Given the description of an element on the screen output the (x, y) to click on. 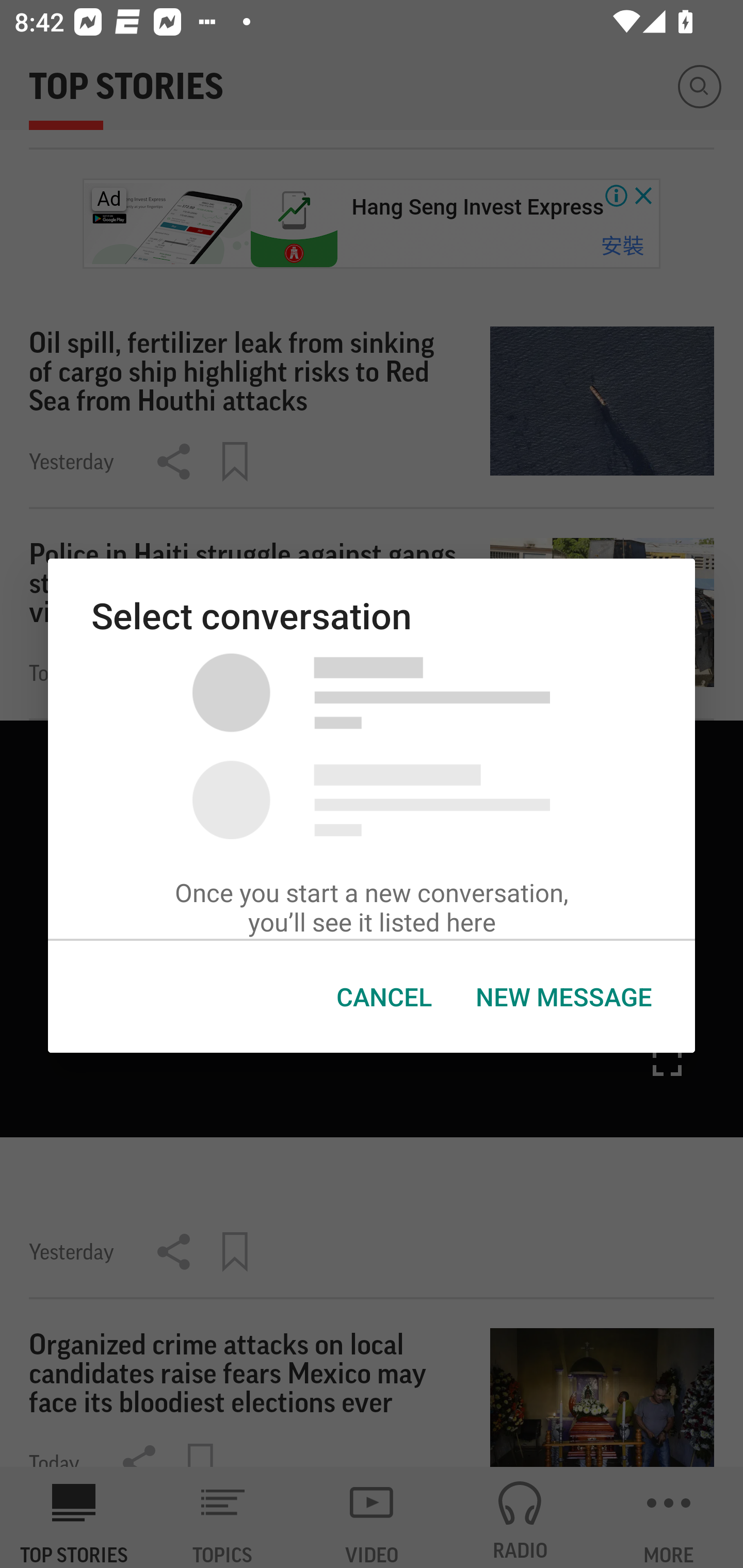
CANCEL (384, 996)
NEW MESSAGE (563, 996)
